Given the description of an element on the screen output the (x, y) to click on. 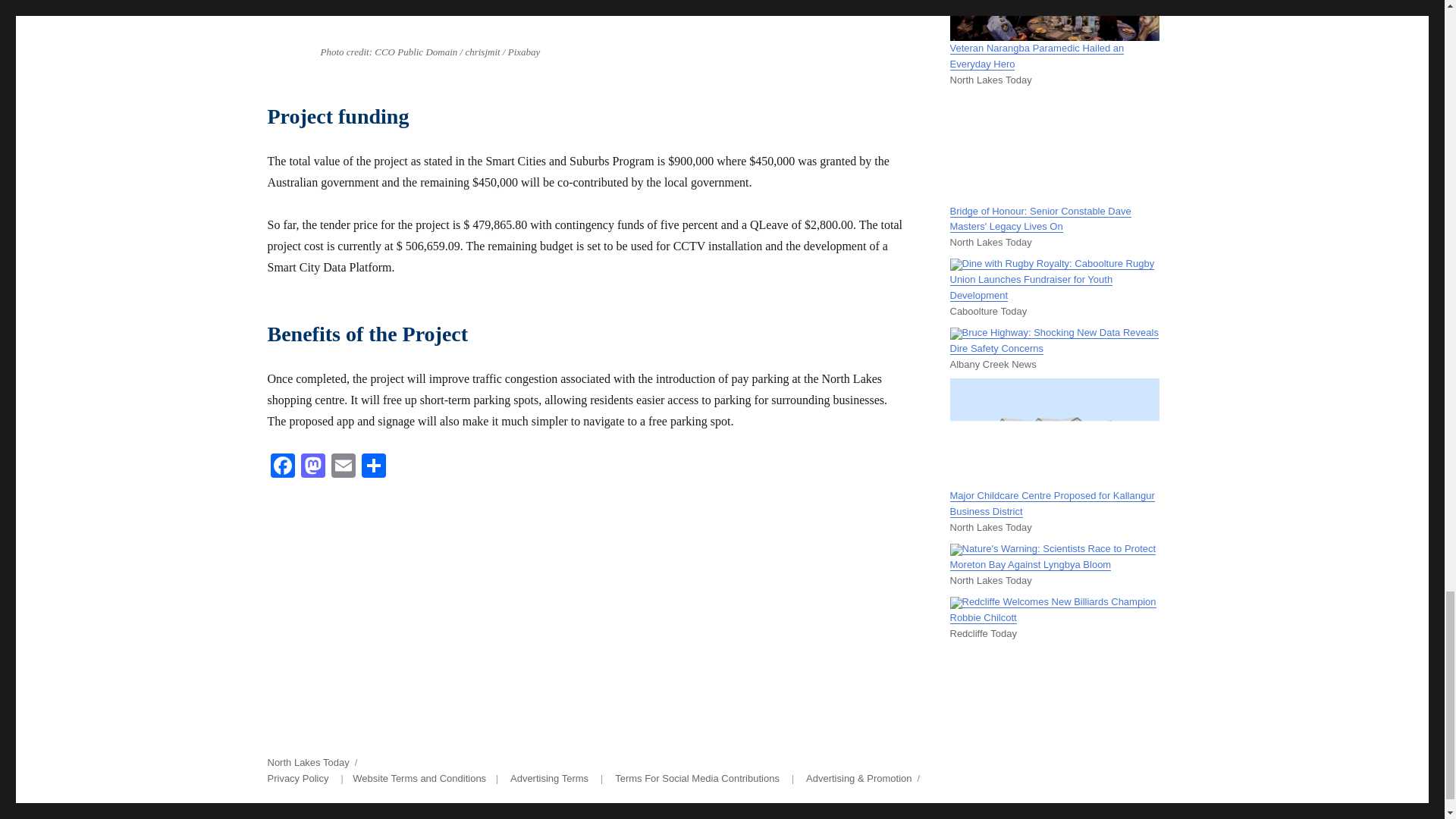
Mastodon (312, 467)
Redcliffe Welcomes New Billiards Champion Robbie Chilcott (1052, 609)
Facebook (281, 467)
Veteran Narangba Paramedic Hailed an Everyday Hero (1036, 55)
Email (342, 467)
Email (342, 467)
Mastodon (312, 467)
